Given the description of an element on the screen output the (x, y) to click on. 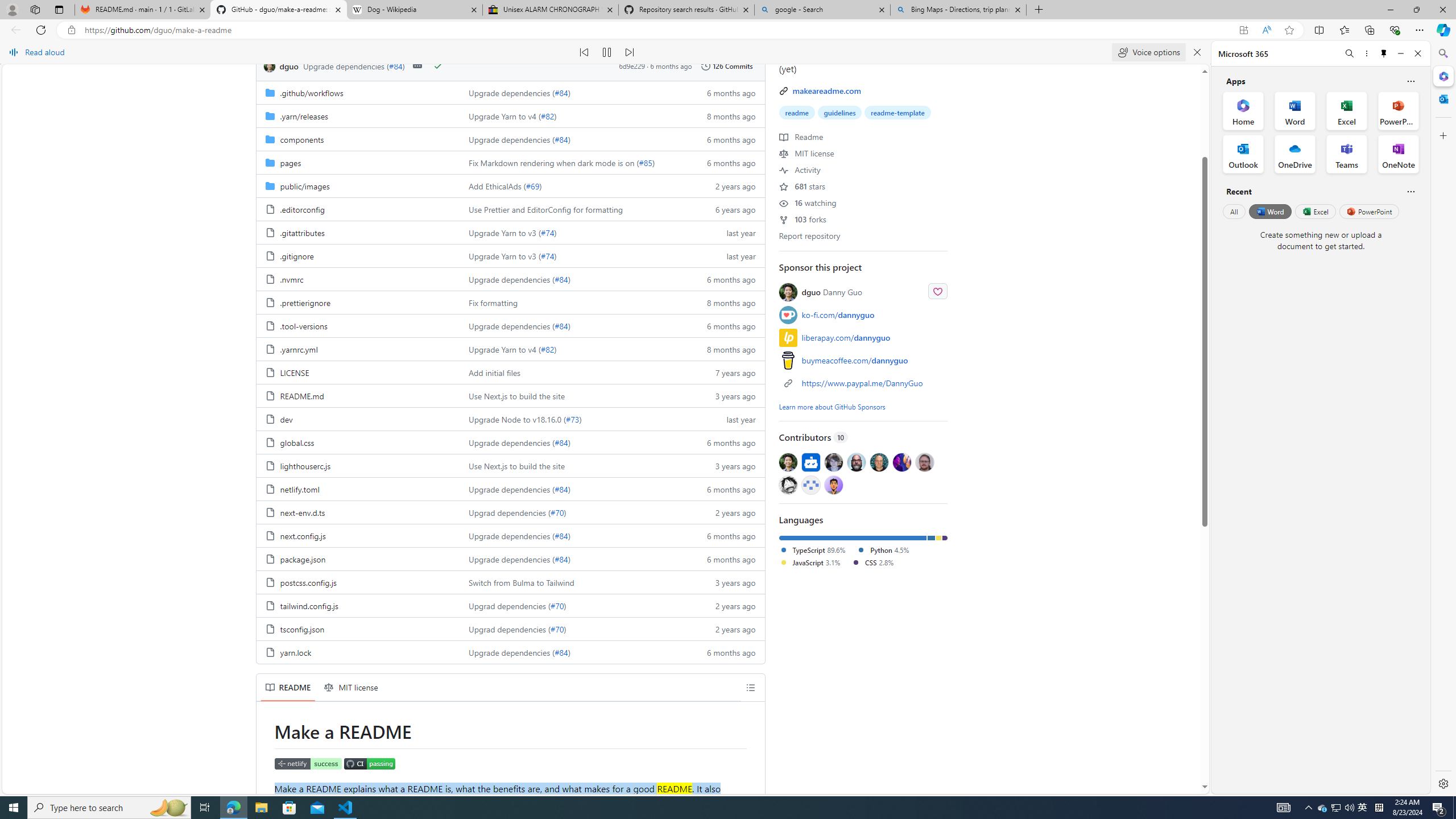
Close read aloud (1196, 52)
next-env.d.ts, (File) (301, 512)
liberapay.com/dannyguo (845, 337)
.yarnrc.yml, (File) (298, 348)
Activity (799, 169)
Upgrad dependencies (#70) (573, 628)
.github/workflows, (Directory) (358, 92)
PowerPoint Office App (1398, 110)
3 years ago (725, 581)
postcss.config.js, (File) (307, 582)
@paul-hammant (878, 461)
next.config.js, (File) (358, 535)
